Given the description of an element on the screen output the (x, y) to click on. 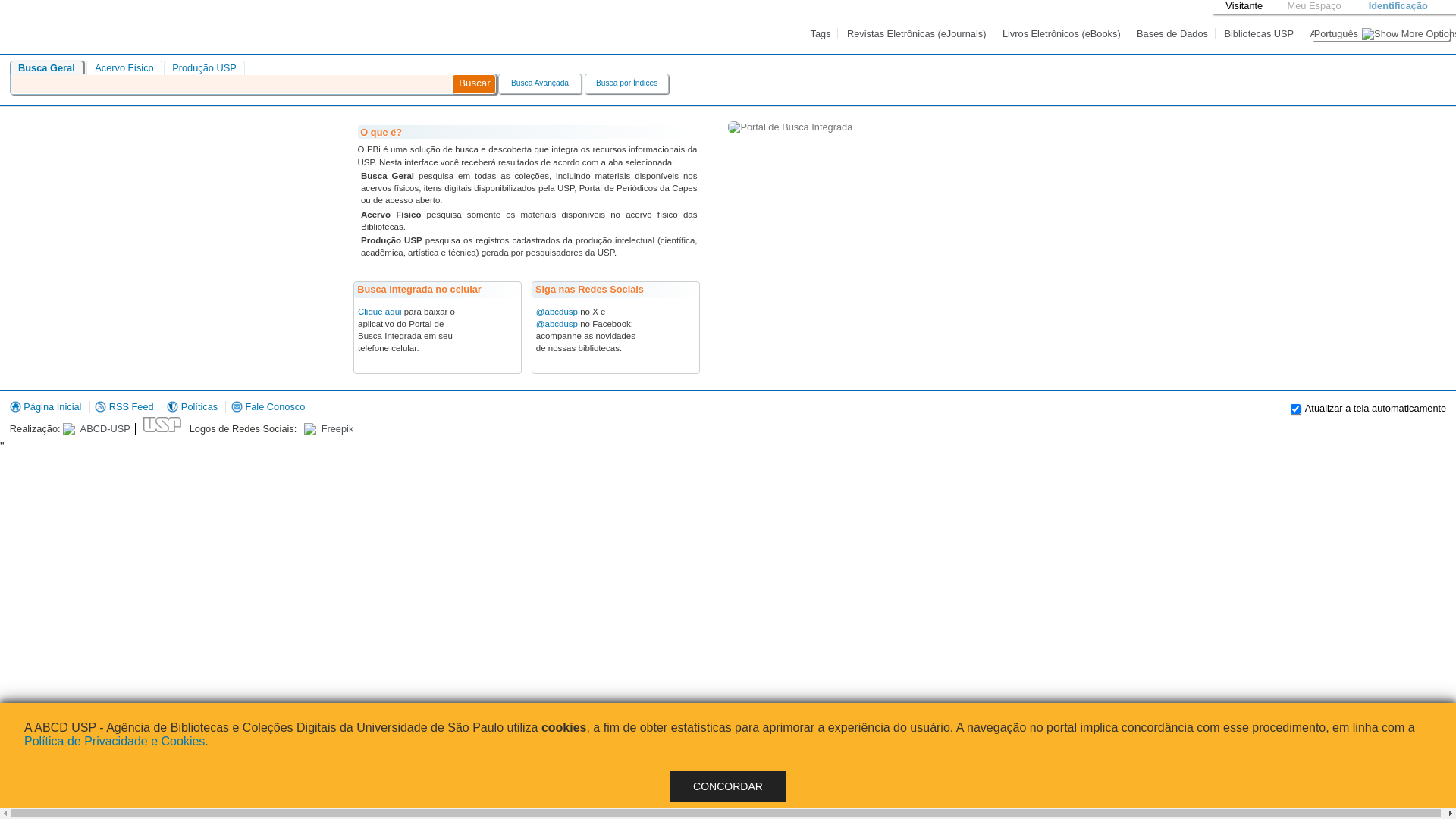
Clique aqui Element type: text (379, 311)
@abcdusp Element type: text (556, 323)
Ajuda Element type: text (1323, 33)
Busca Geral Element type: text (46, 67)
Bibliotecas USP Element type: text (1259, 33)
Bases de Dados Element type: text (1172, 33)
CONCORDAR Element type: text (727, 786)
USP Element type: hover (159, 424)
on Element type: text (1295, 409)
RSS Feed Element type: text (123, 406)
CONCORDAR Element type: text (727, 786)
Freepik Element type: hover (326, 429)
@abcdusp Element type: text (556, 311)
Tags Element type: text (821, 33)
Buscar Element type: text (473, 84)
ABCD-USP Element type: hover (98, 429)
Fale Conosco Element type: text (268, 406)
